Given the description of an element on the screen output the (x, y) to click on. 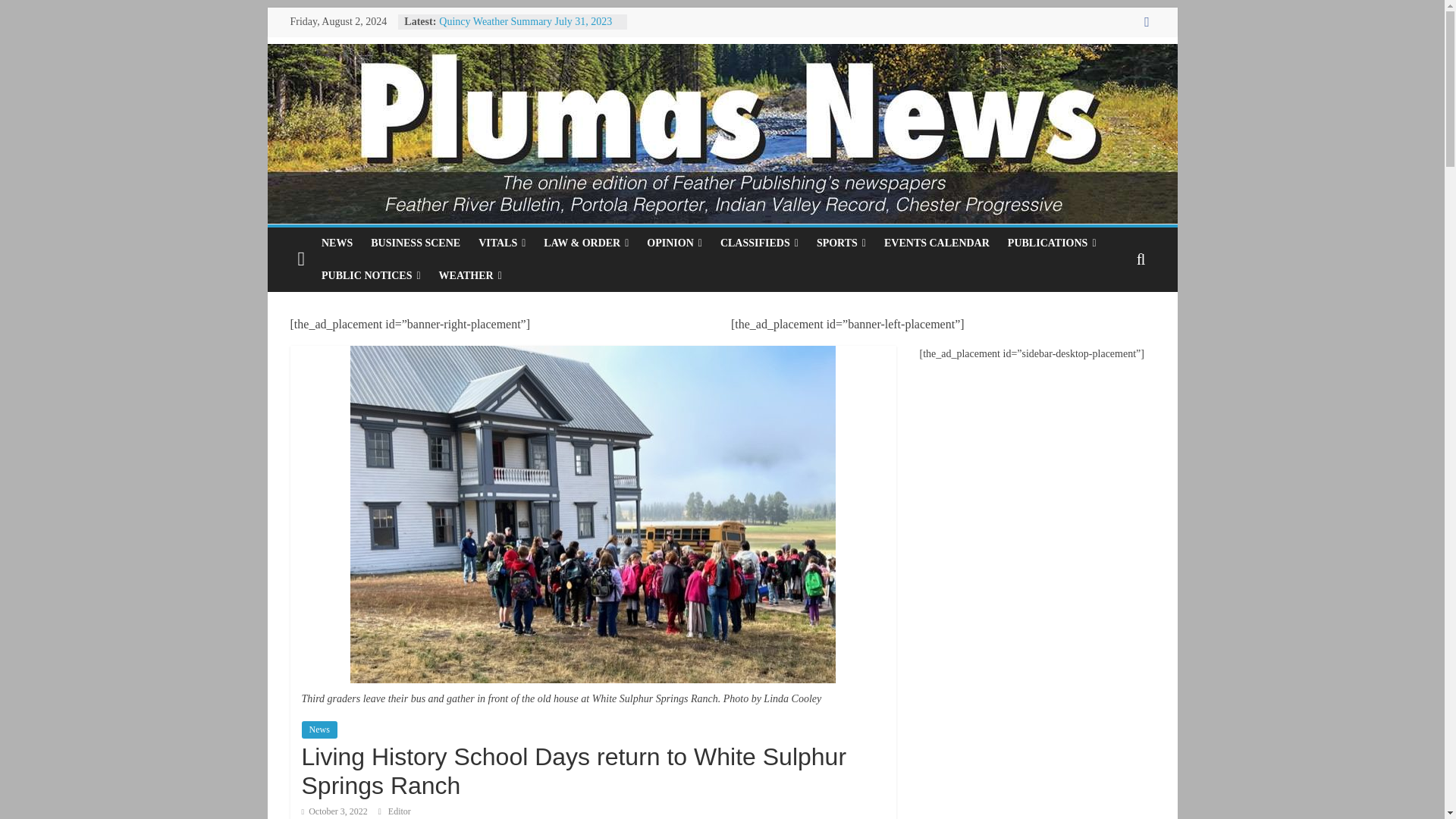
Quincy Weather Summary July 31, 2023 (525, 21)
Quincy Weather Summary July 31, 2023 (525, 21)
VITALS (501, 243)
9:47 am (334, 810)
PUBLICATIONS (1051, 243)
SPORTS (841, 243)
NEWS (337, 243)
CLASSIFIEDS (759, 243)
Editor (399, 810)
